Given the description of an element on the screen output the (x, y) to click on. 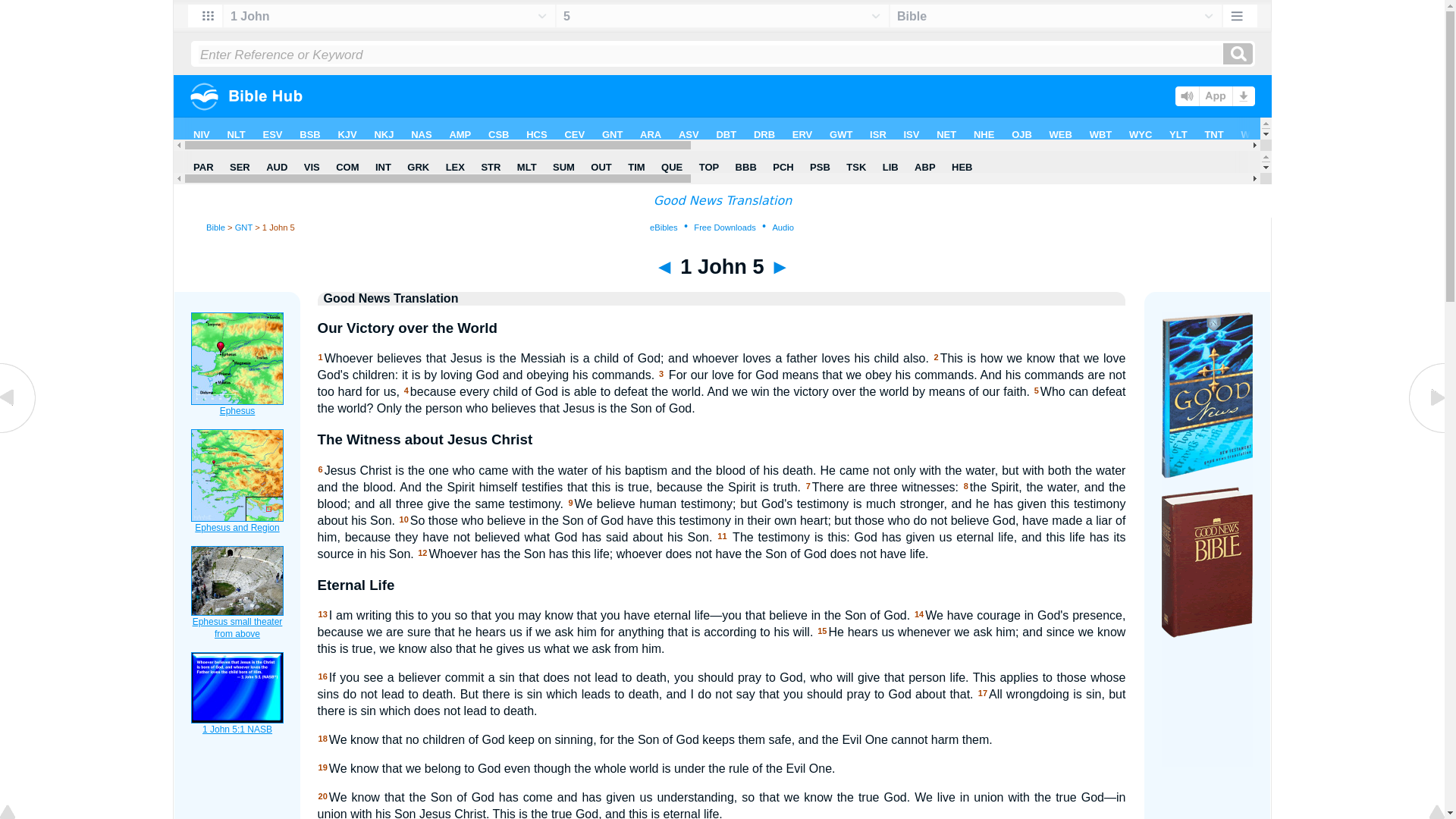
GNT (242, 226)
Bible (215, 226)
Top of Page (18, 813)
1 John 4 (18, 431)
